Given the description of an element on the screen output the (x, y) to click on. 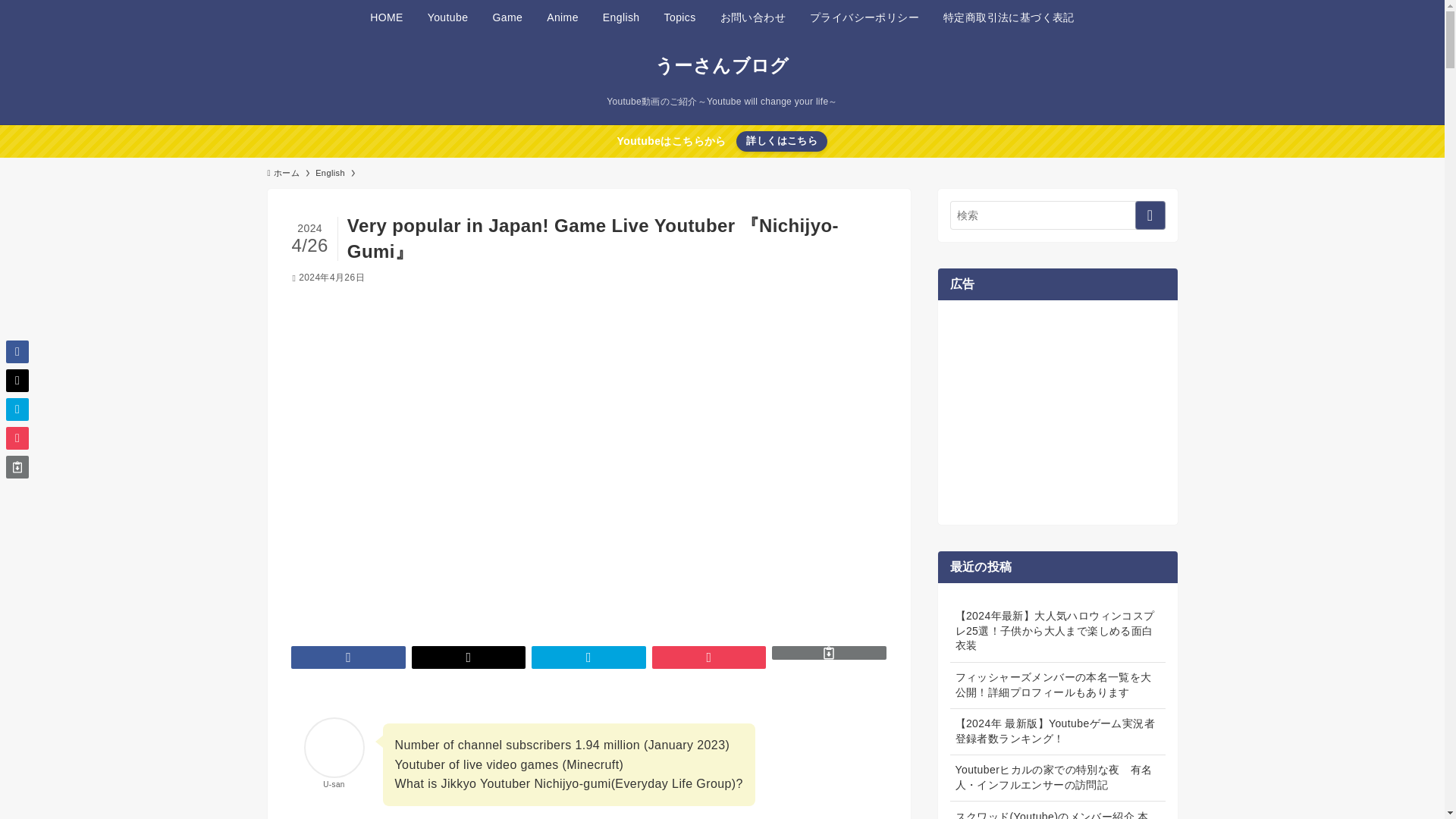
English (621, 17)
Anime (562, 17)
Game (507, 17)
HOME (386, 17)
Youtube (447, 17)
Topics (679, 17)
